Given the description of an element on the screen output the (x, y) to click on. 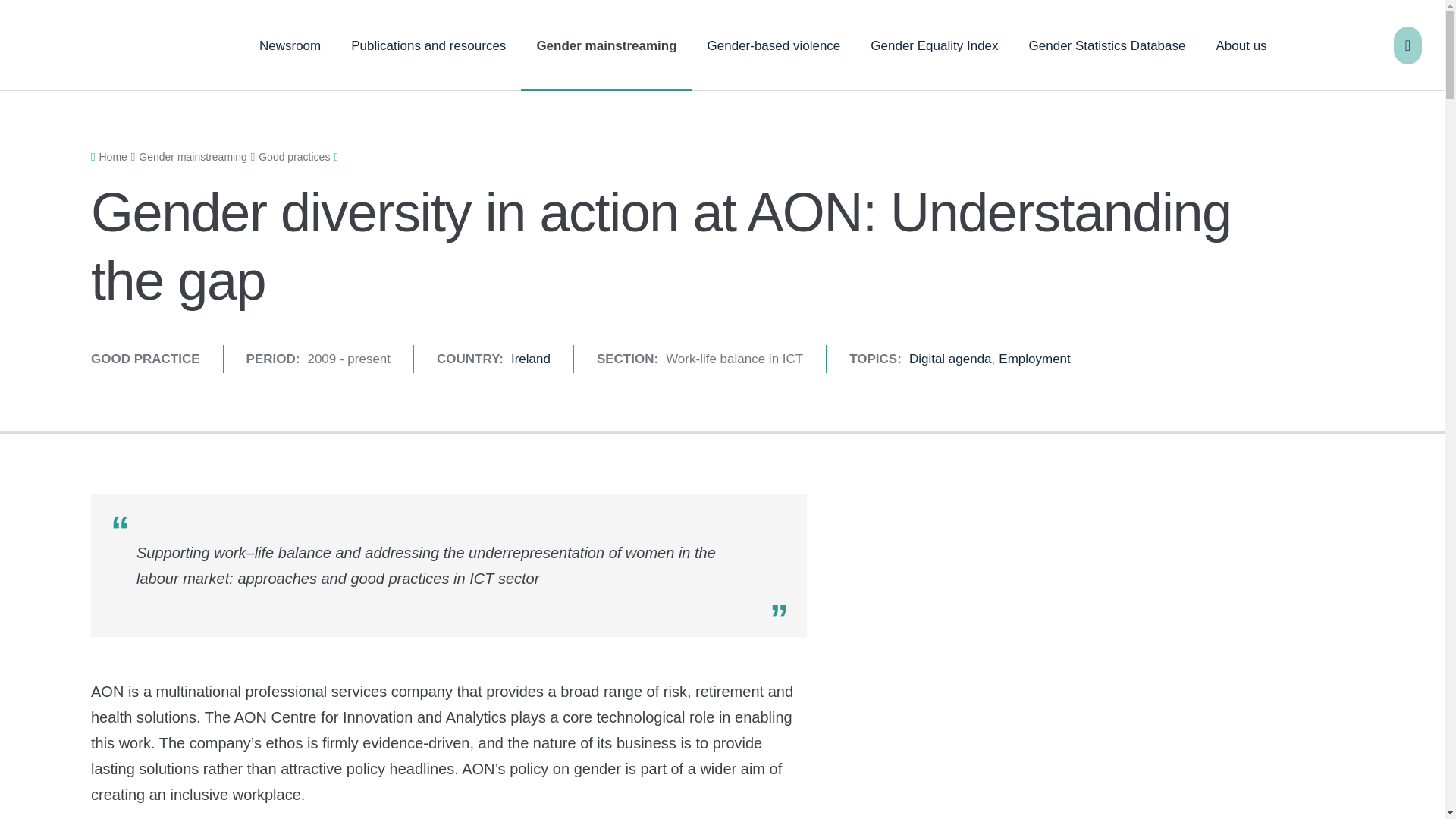
European Institute for Gender Equality (110, 45)
Publications and resources (428, 45)
Gender mainstreaming (606, 45)
Newsroom (290, 45)
